Given the description of an element on the screen output the (x, y) to click on. 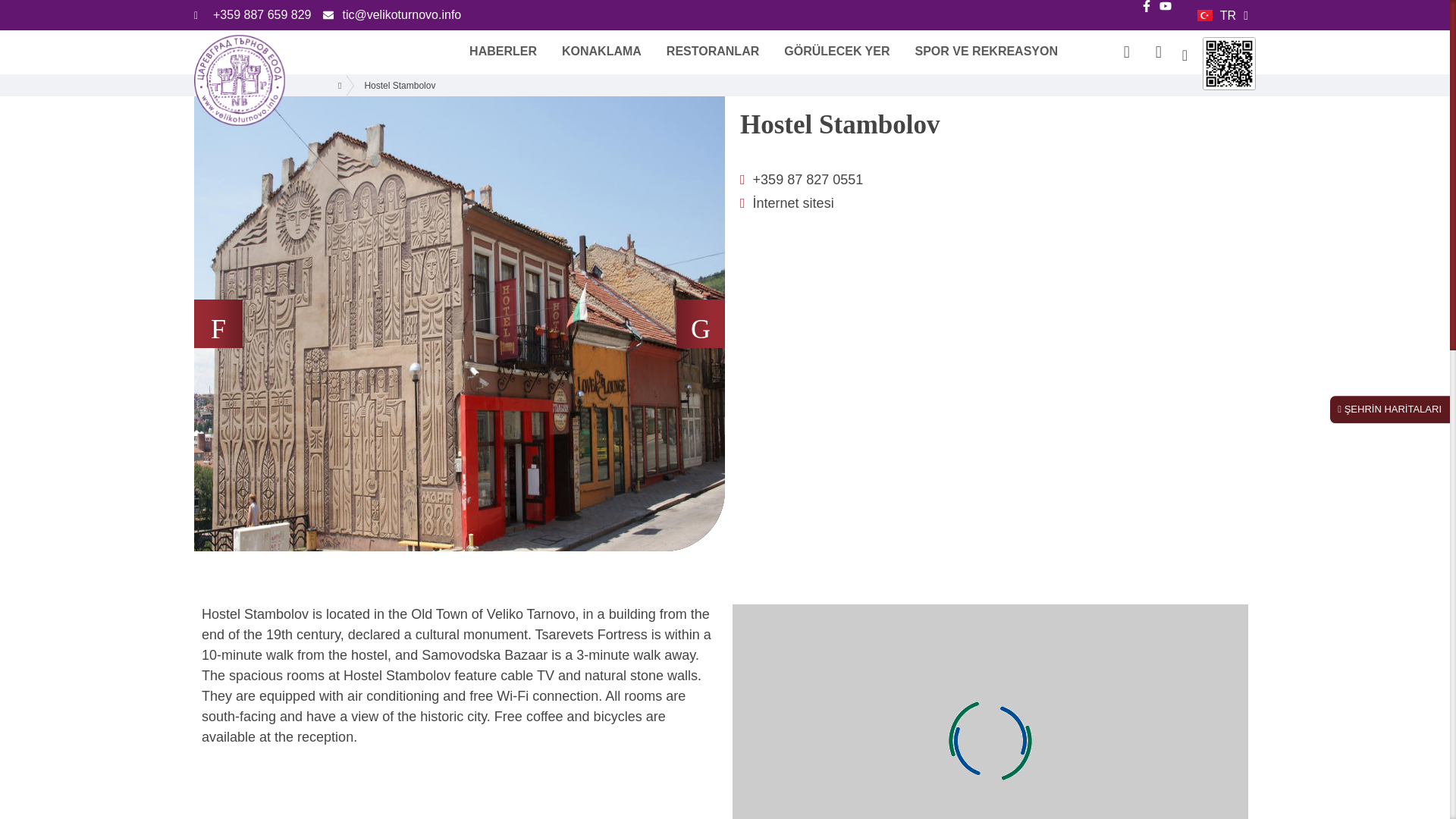
RESTORANLAR (712, 50)
HABERLER (502, 50)
TR (1221, 15)
KONAKLAMA (602, 50)
